Given the description of an element on the screen output the (x, y) to click on. 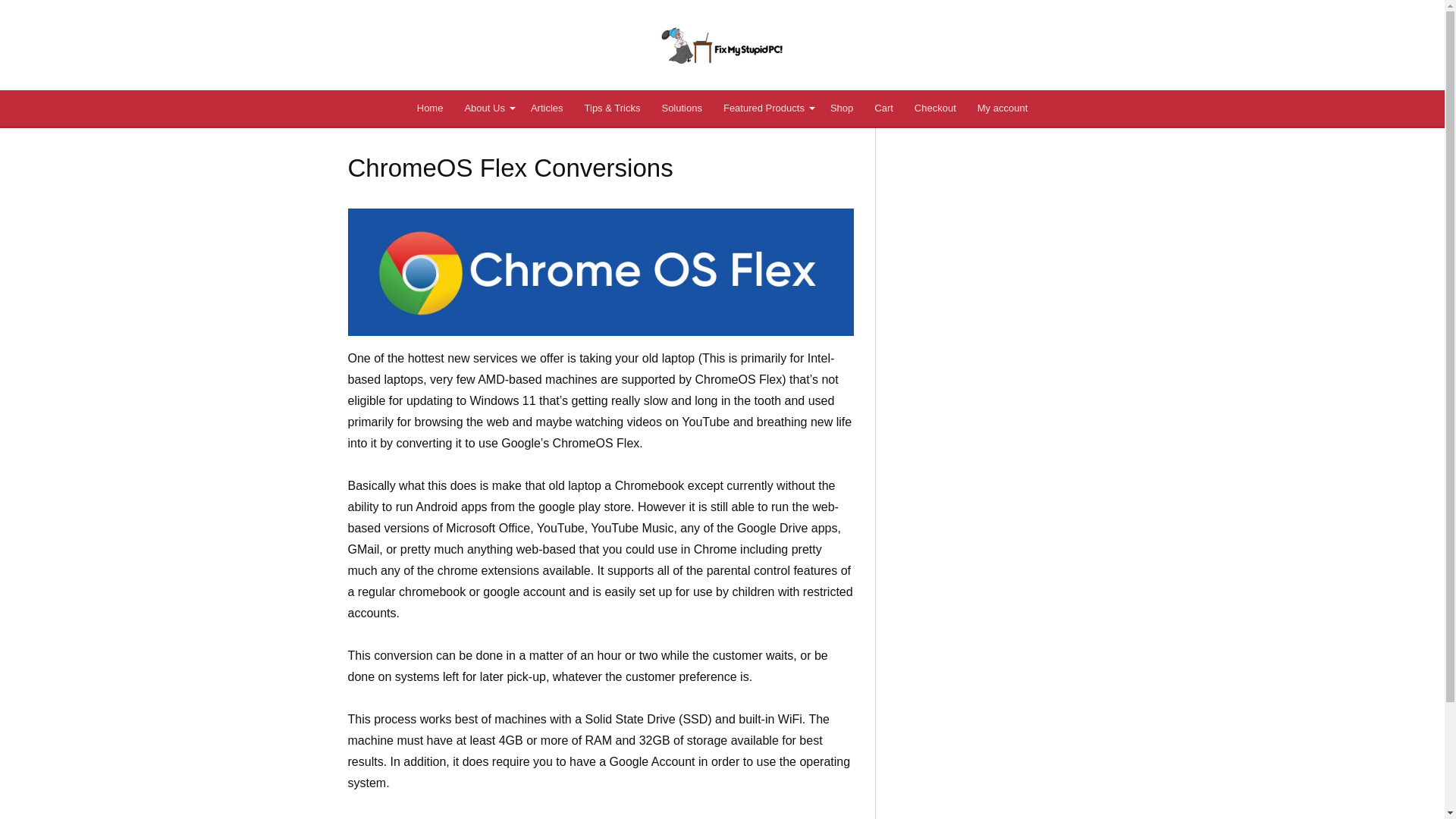
Solutions (680, 108)
Cart (883, 108)
Shop (841, 108)
About Us (485, 108)
My account (1002, 108)
Checkout (935, 108)
Featured Products (766, 108)
Home (430, 108)
Articles (546, 108)
